Given the description of an element on the screen output the (x, y) to click on. 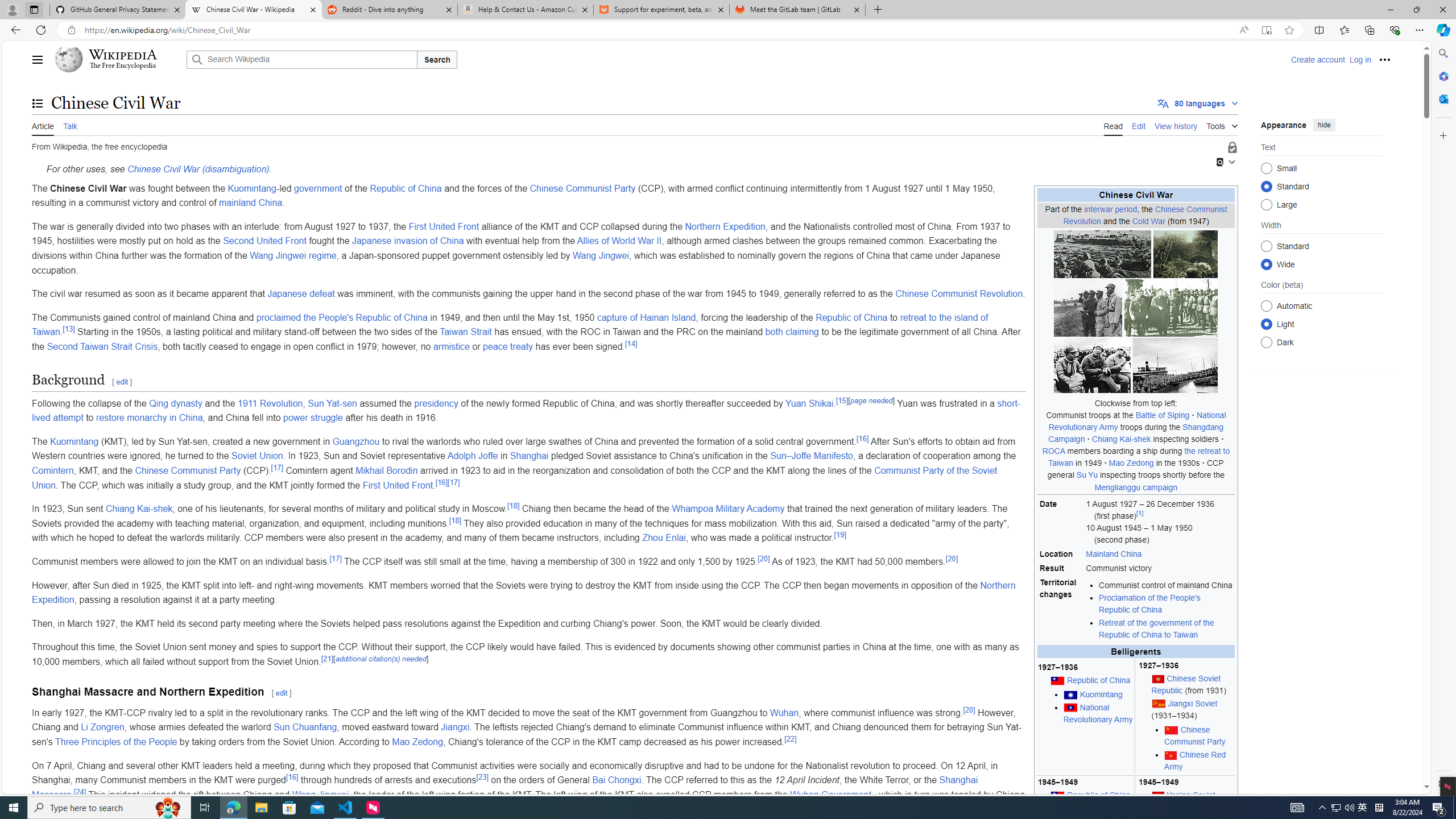
 Kuomintang (1098, 694)
Read (1112, 124)
[15] (841, 399)
View history (1176, 124)
[13] (68, 329)
Communist Party of the Soviet Union (514, 478)
Class: mw-list-item mw-list-item-js (1321, 323)
Log in (1360, 58)
Automatic (1266, 305)
Wang Jingwei (319, 794)
